Given the description of an element on the screen output the (x, y) to click on. 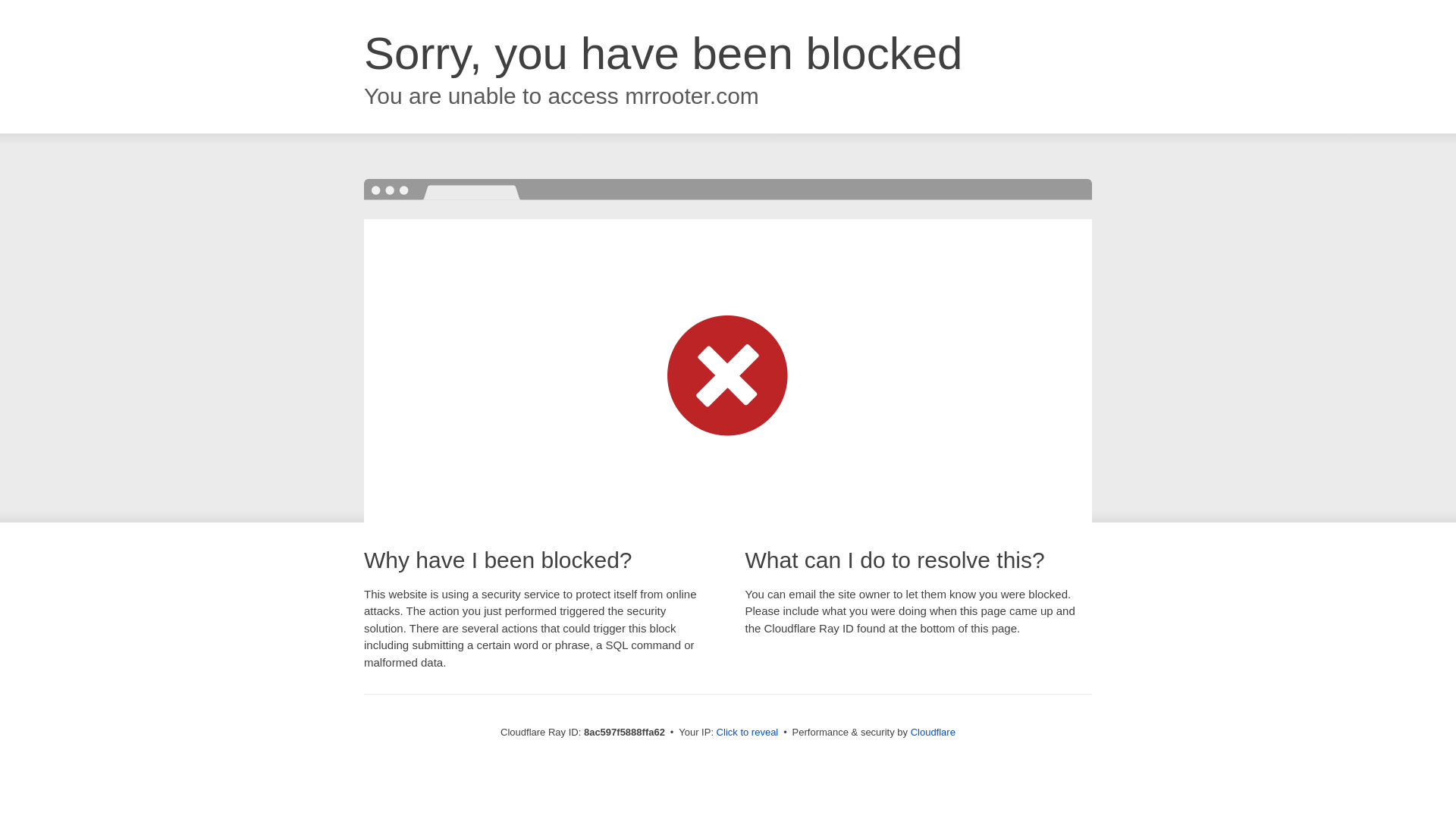
Cloudflare (933, 731)
Click to reveal (747, 732)
